Given the description of an element on the screen output the (x, y) to click on. 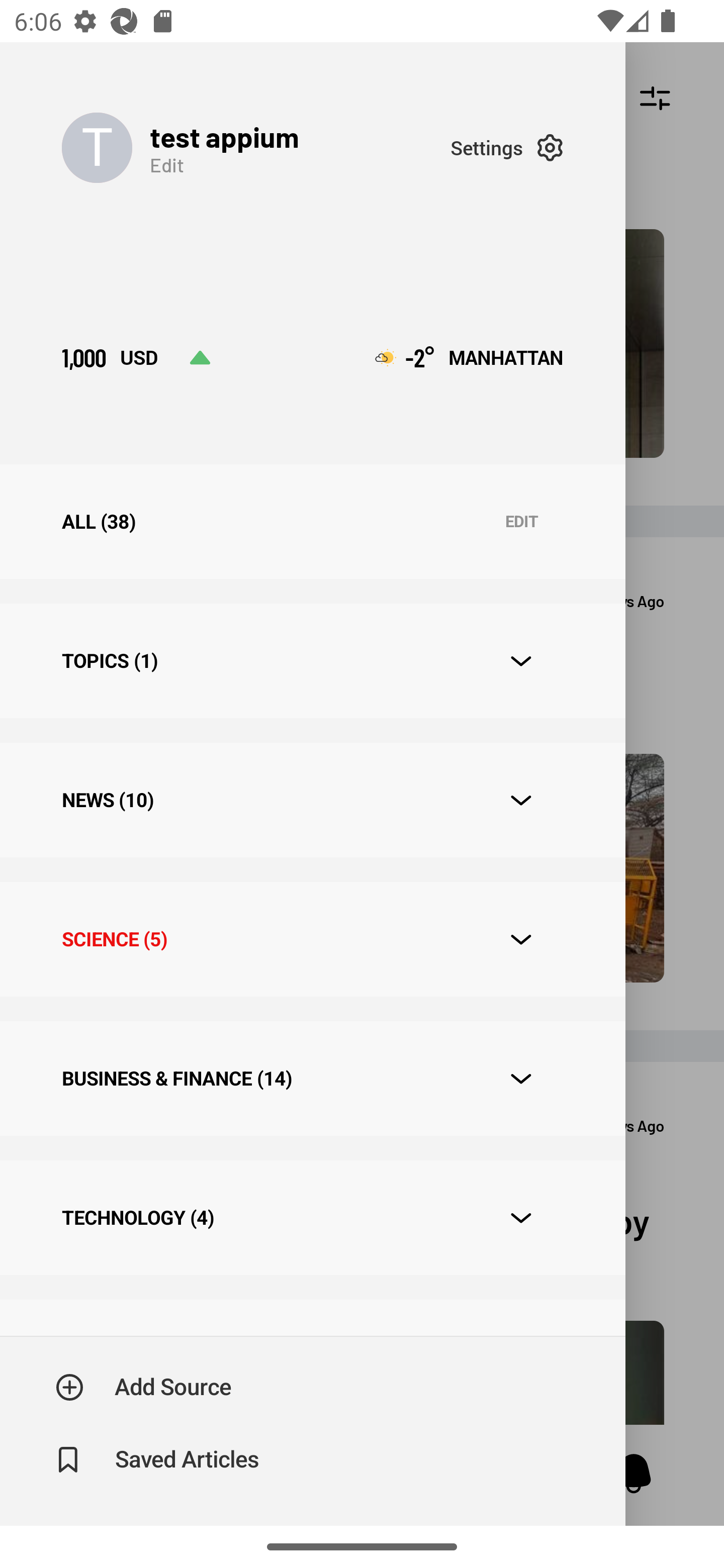
Close navigation menu (674, 783)
T test appium Edit (255, 147)
Settings Select News Style (506, 147)
1,000 USD Current State of the Currency (135, 357)
Current State of the Weather -2° MANHATTAN (469, 357)
ALL  (38) EDIT (312, 521)
EDIT (521, 521)
TOPICS  (1) Expand Button (312, 660)
Expand Button (521, 661)
NEWS  (10) Expand Button (312, 800)
Expand Button (521, 800)
SCIENCE  (5) Expand Button (312, 939)
Expand Button (521, 938)
BUSINESS & FINANCE  (14) Expand Button (312, 1077)
Expand Button (521, 1078)
TECHNOLOGY  (4) Expand Button (312, 1217)
Expand Button (521, 1218)
Open Content Store Add Source (143, 1387)
Open Saved News  Saved Articles (158, 1459)
